Given the description of an element on the screen output the (x, y) to click on. 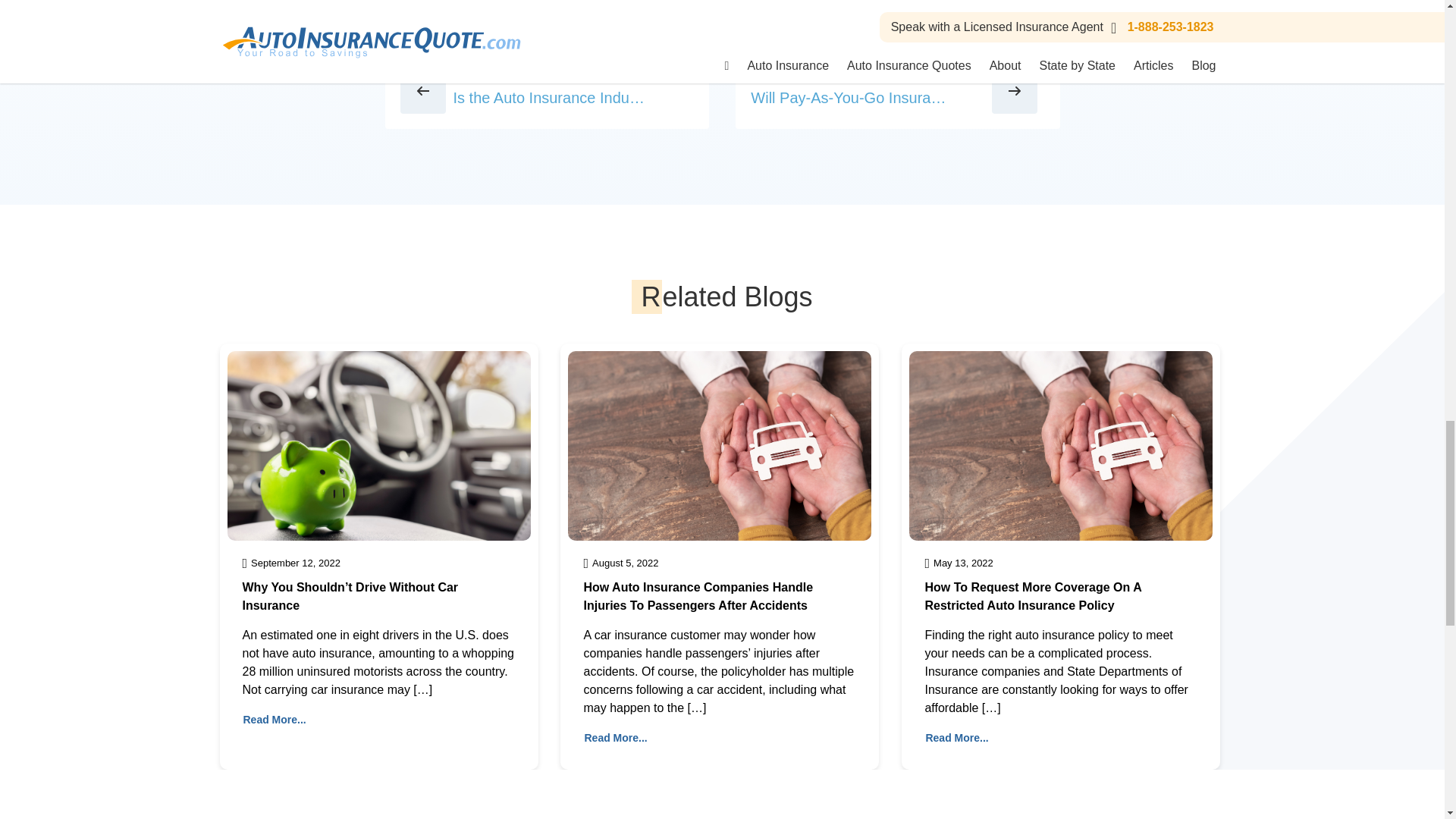
Read More... (275, 719)
Read More... (956, 737)
Read More... (615, 737)
